Given the description of an element on the screen output the (x, y) to click on. 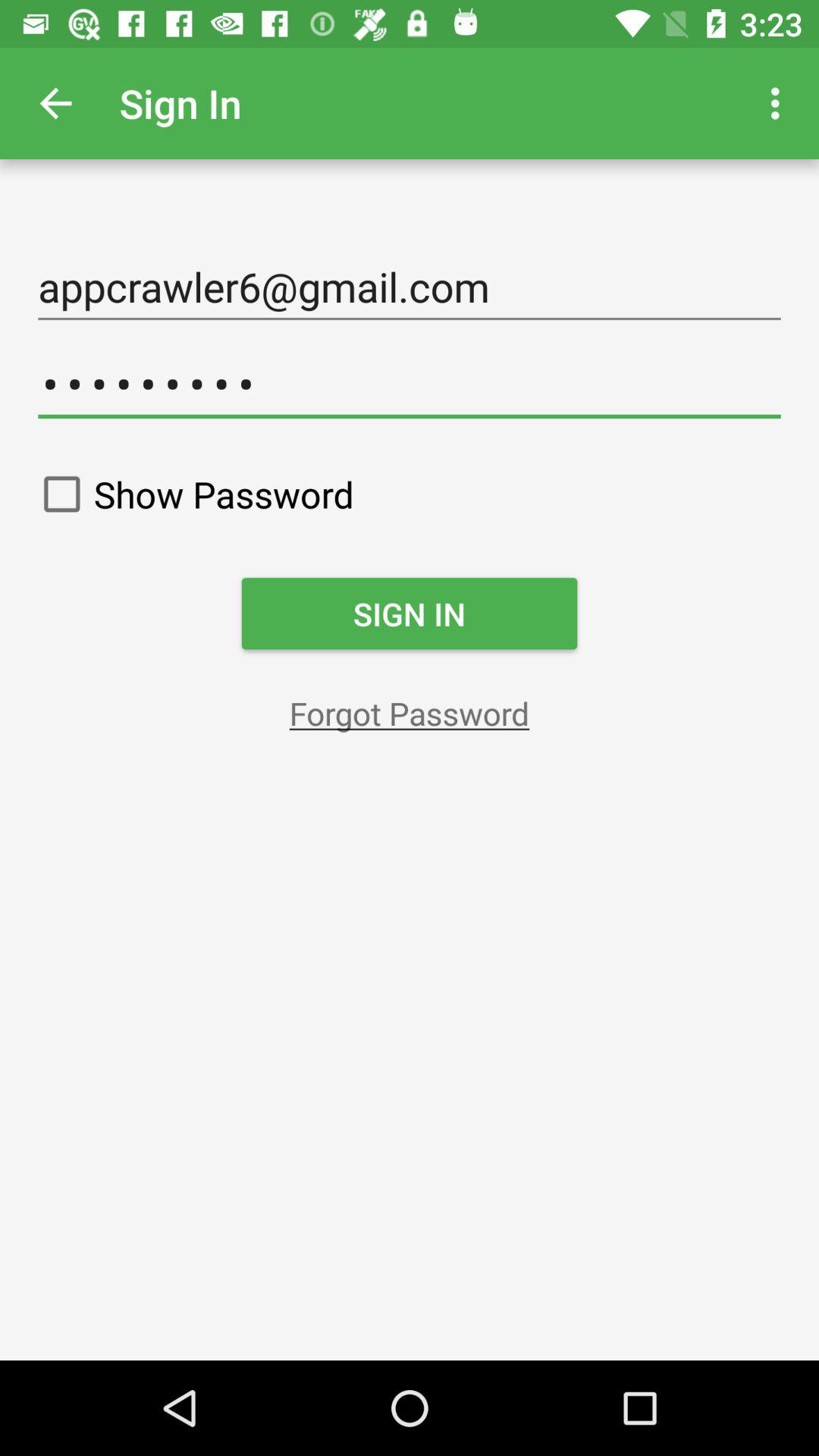
jump to the crowd3116 (409, 383)
